Given the description of an element on the screen output the (x, y) to click on. 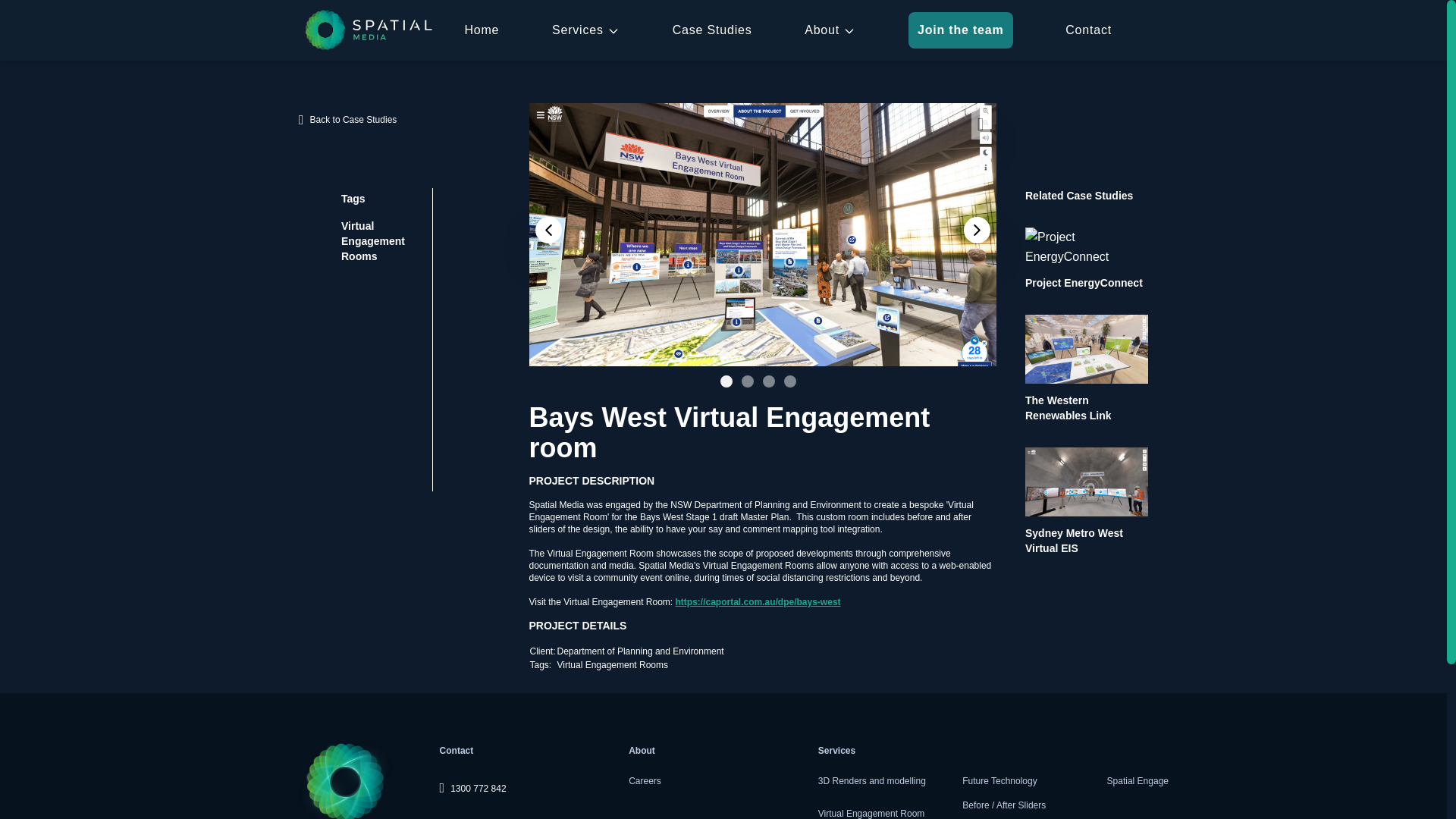
Home (481, 30)
Services (585, 30)
Join the team (960, 30)
Contact (1088, 30)
About (830, 30)
Spatial Media (368, 30)
Case Studies (712, 30)
